Given the description of an element on the screen output the (x, y) to click on. 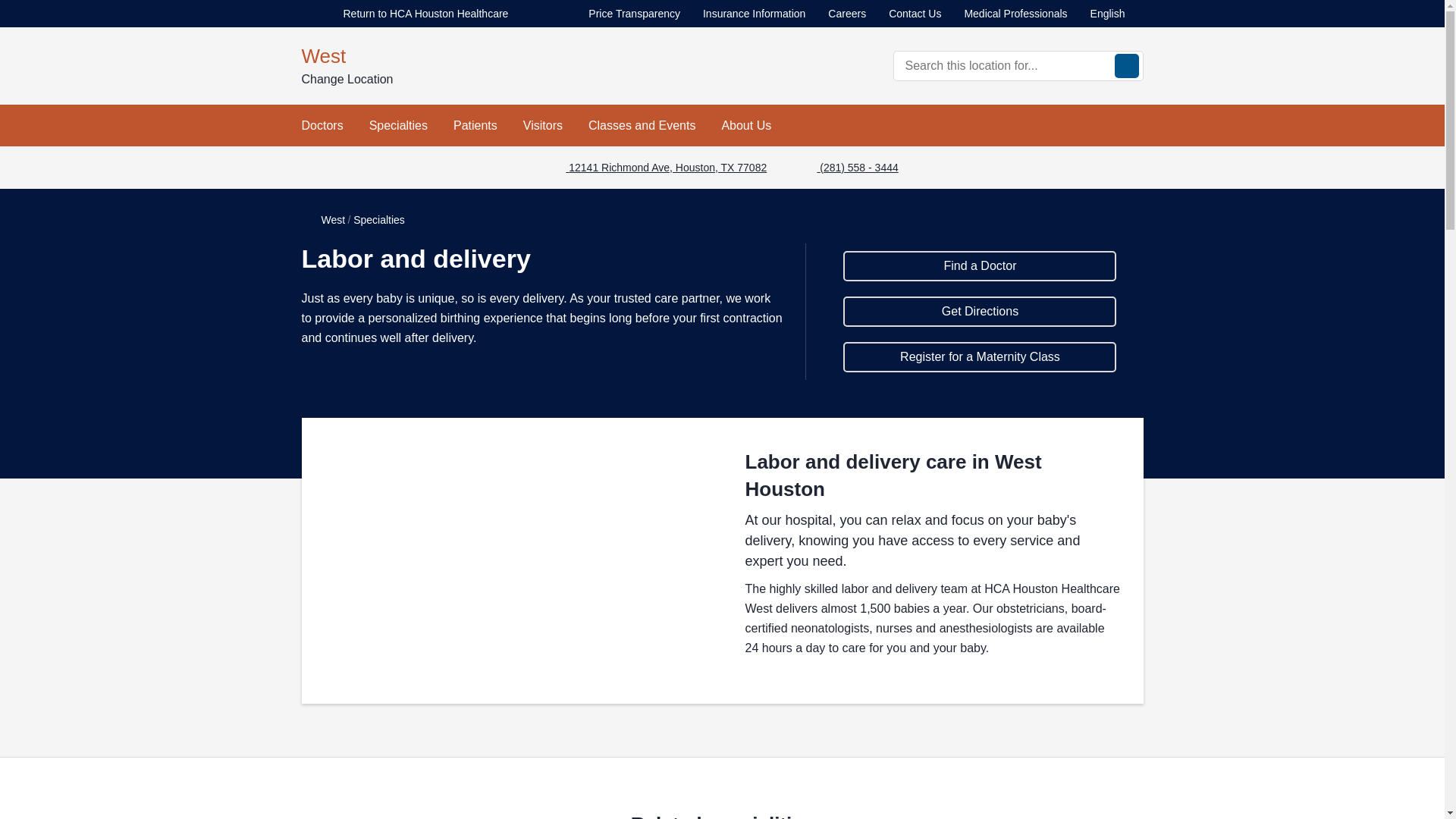
Patients (474, 125)
Classes and Events (641, 125)
Specialties (398, 125)
 Return to HCA Houston Healthcare (414, 13)
English (1116, 13)
West (506, 55)
Change Location  (358, 79)
Insurance Information (754, 13)
Price Transparency (633, 13)
Skip to Content (3, 3)
Careers (847, 13)
Medical Professionals (1015, 13)
Doctors (322, 125)
About Us (745, 125)
Contact Us (914, 13)
